Given the description of an element on the screen output the (x, y) to click on. 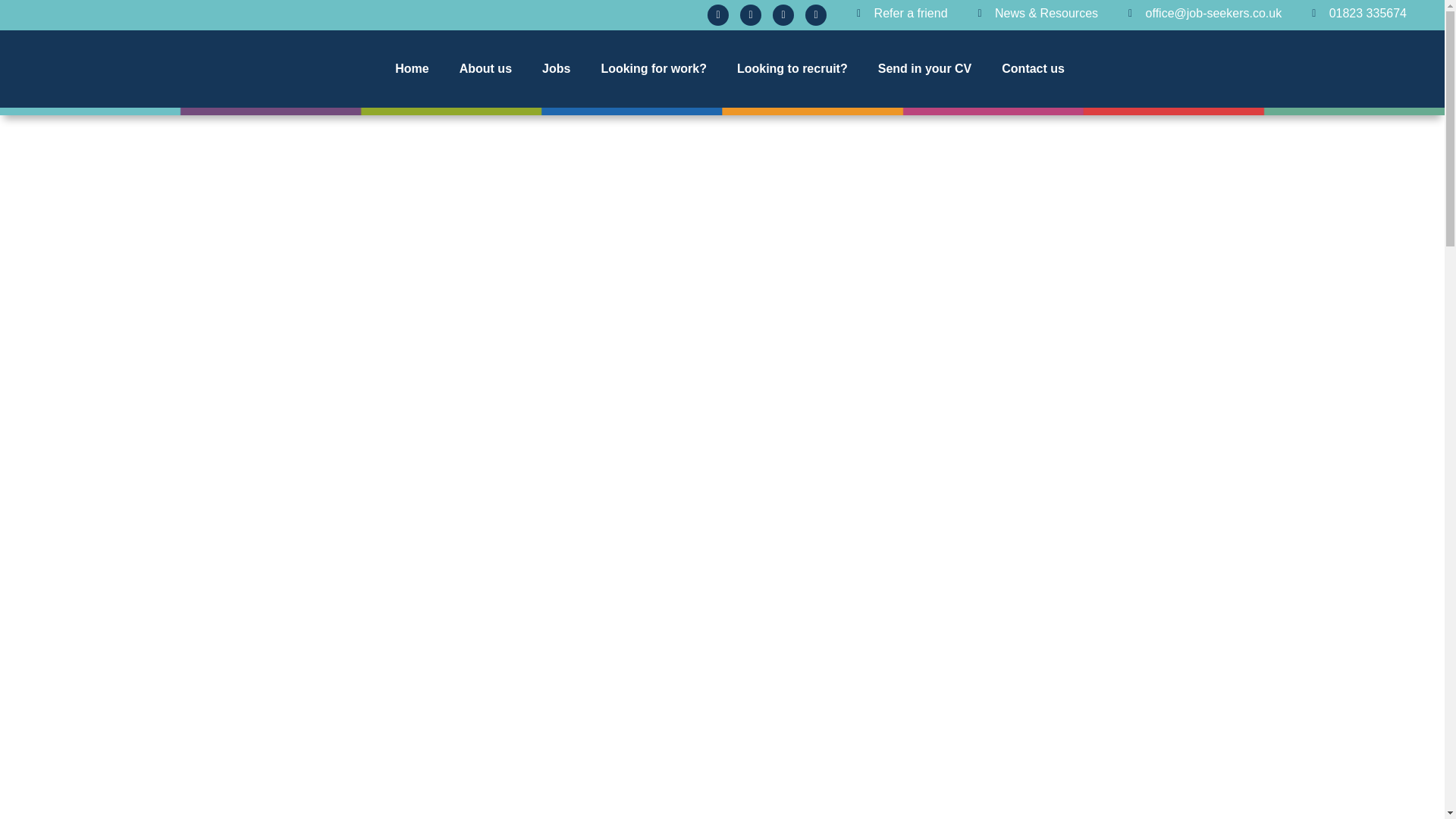
Twitter (750, 14)
Send in your CV (925, 68)
Jobs (556, 68)
About us (485, 68)
Refer a friend (902, 13)
Facebook (718, 14)
Contact us (1033, 68)
Looking for work? (653, 68)
Instagram (783, 14)
Home (412, 68)
